Given the description of an element on the screen output the (x, y) to click on. 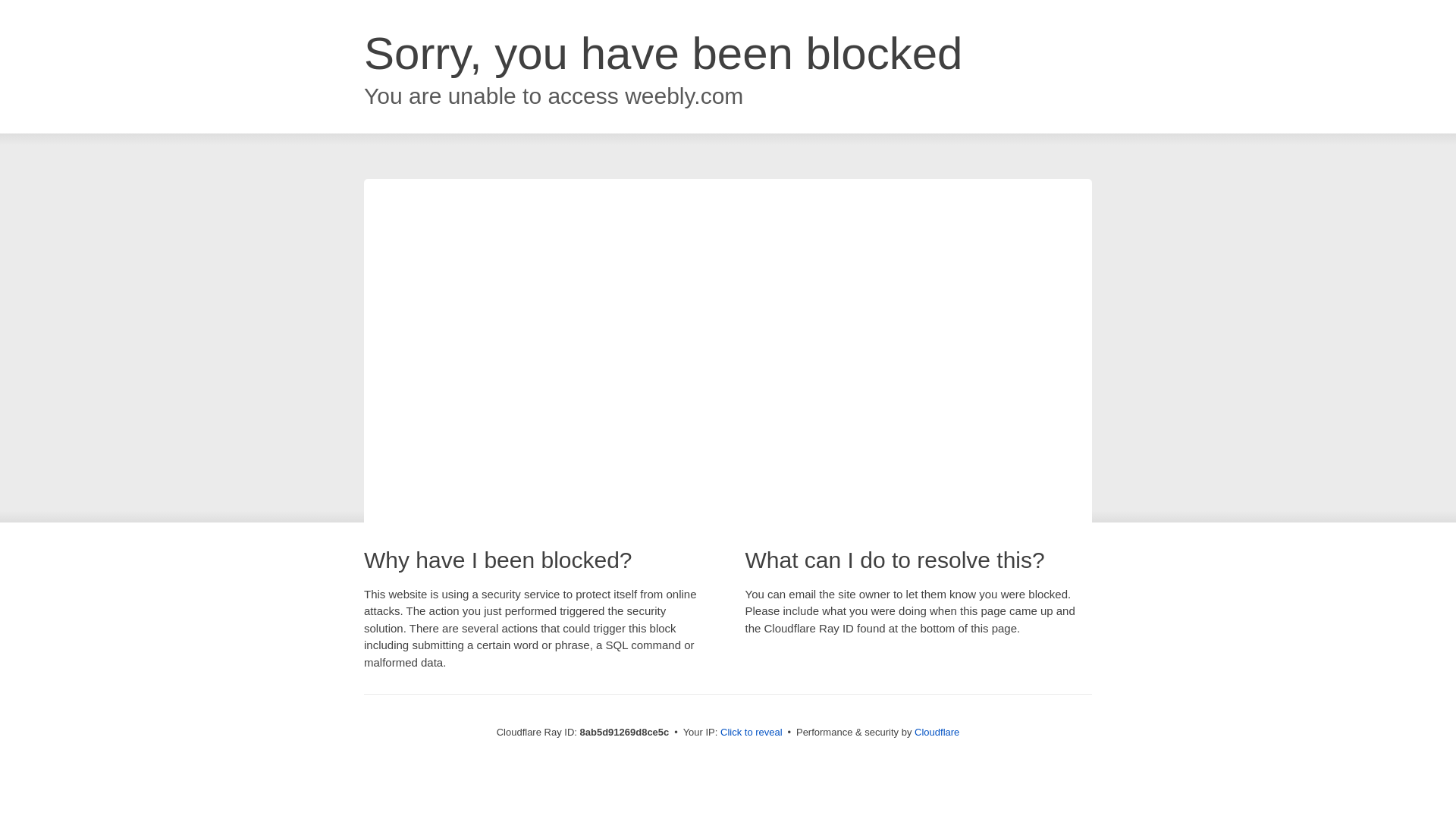
Click to reveal (751, 732)
Cloudflare (936, 731)
